Given the description of an element on the screen output the (x, y) to click on. 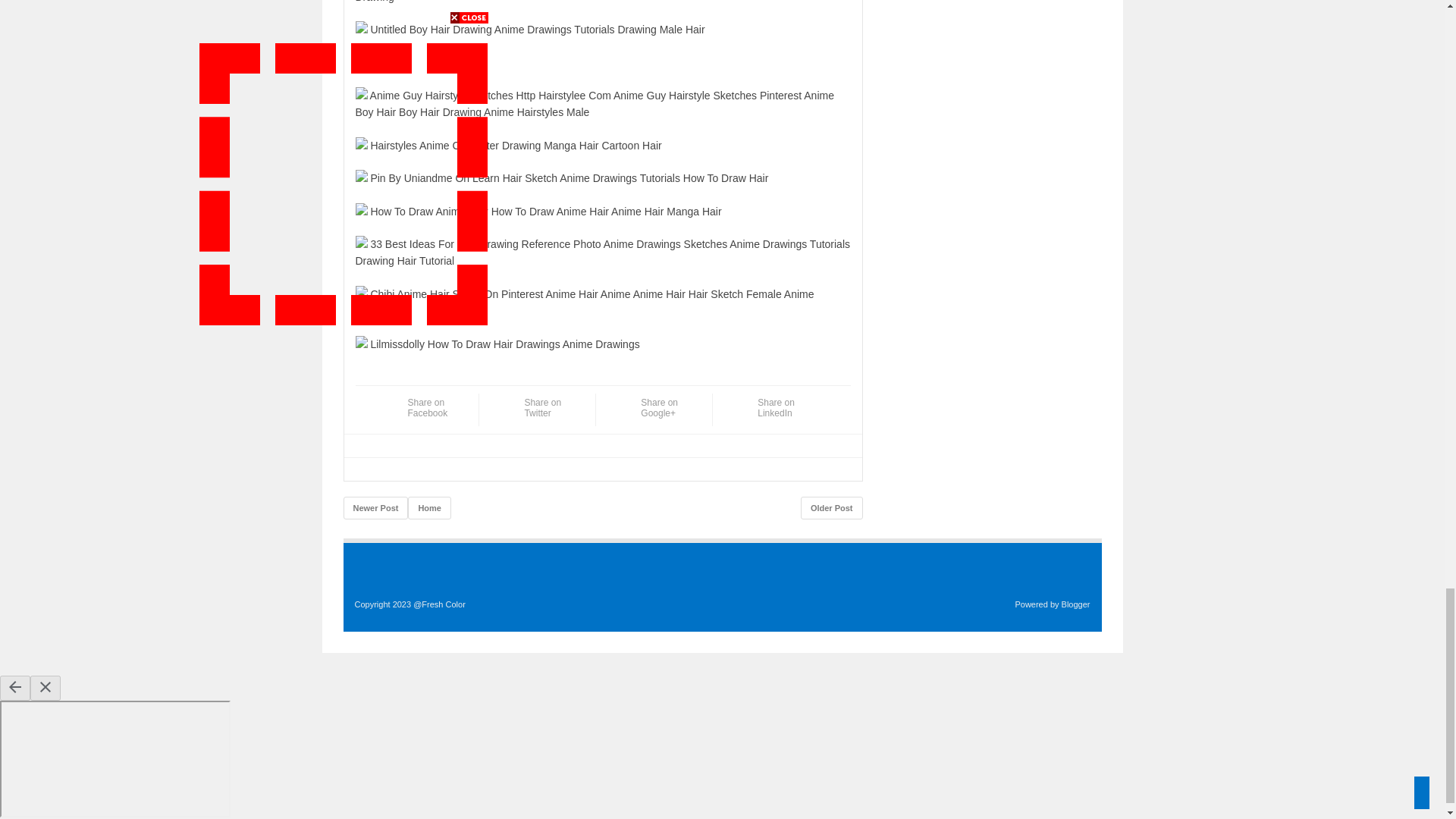
Share on Facebook (429, 413)
Share on Twitter (545, 413)
Share on LinkedIn (779, 413)
Newer Post (374, 507)
Older Post (831, 507)
Blogger (1075, 604)
